Given the description of an element on the screen output the (x, y) to click on. 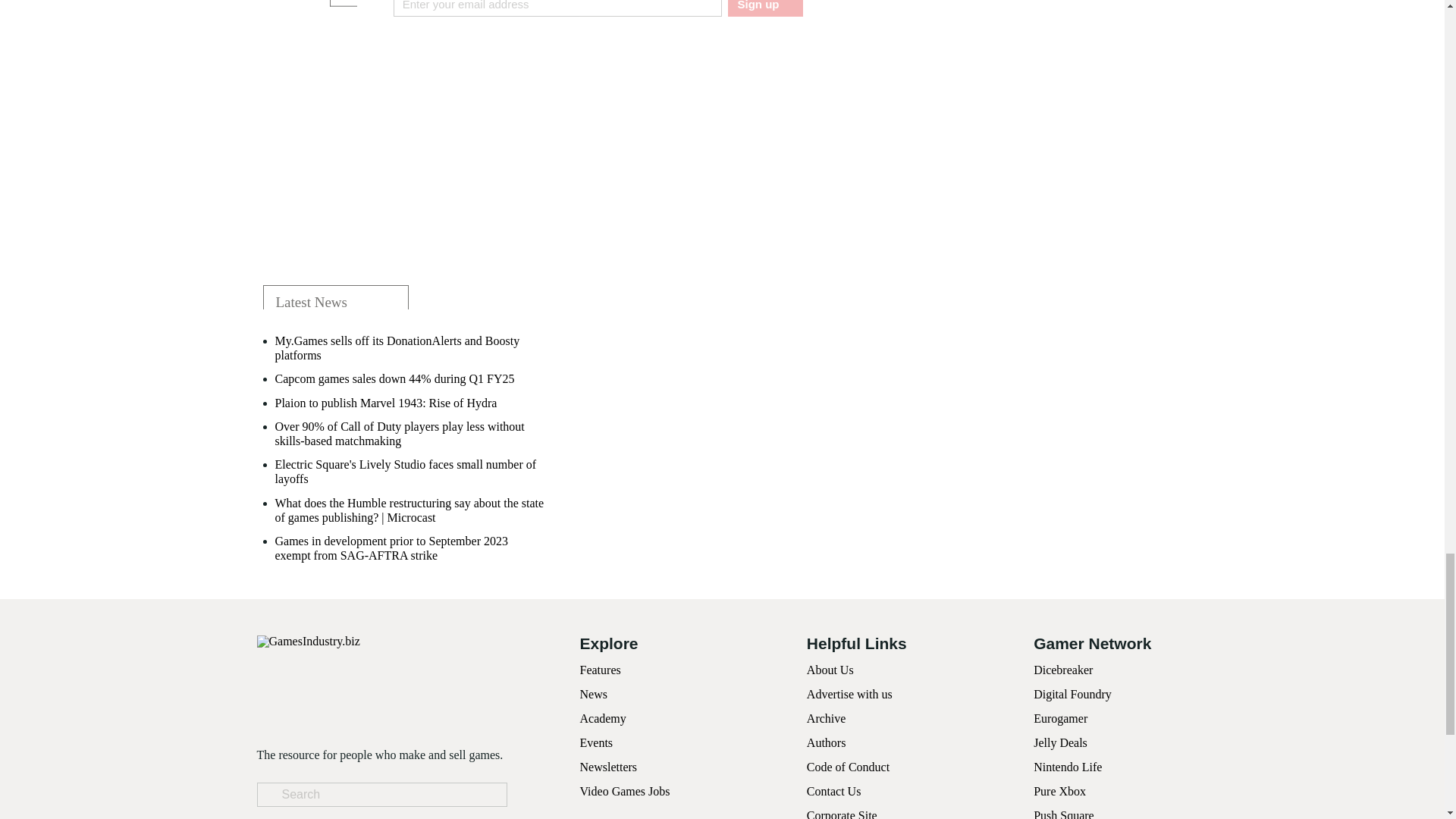
Features (599, 669)
Newsletters (608, 766)
News (593, 694)
Video Games Jobs (624, 790)
Archive (825, 717)
Academy (602, 717)
About Us (829, 669)
Sign up (765, 8)
Events (595, 742)
Plaion to publish Marvel 1943: Rise of Hydra (385, 402)
My.Games sells off its DonationAlerts and Boosty platforms (409, 347)
Advertise with us (849, 694)
